Given the description of an element on the screen output the (x, y) to click on. 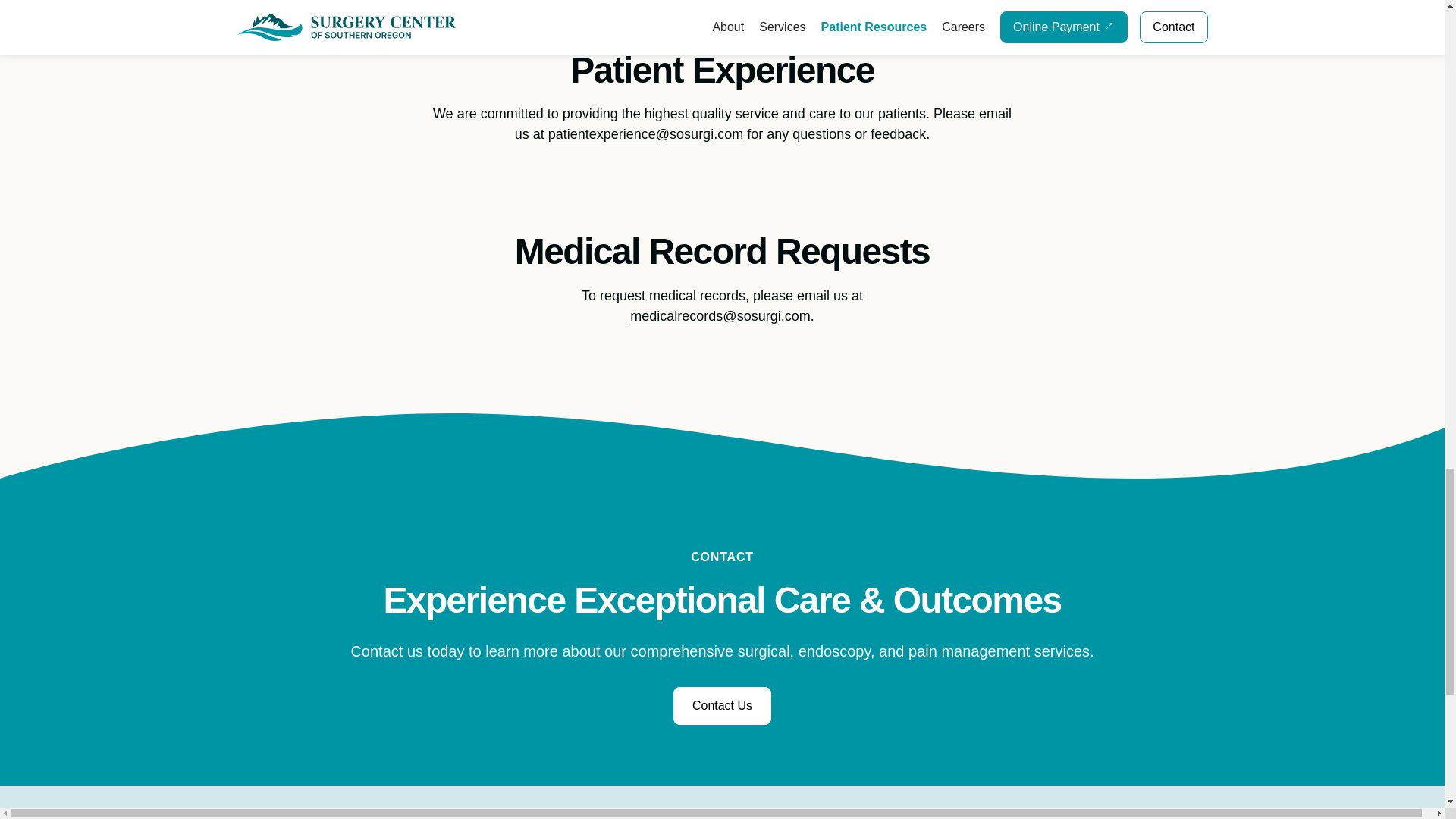
Contact Us (721, 705)
